Given the description of an element on the screen output the (x, y) to click on. 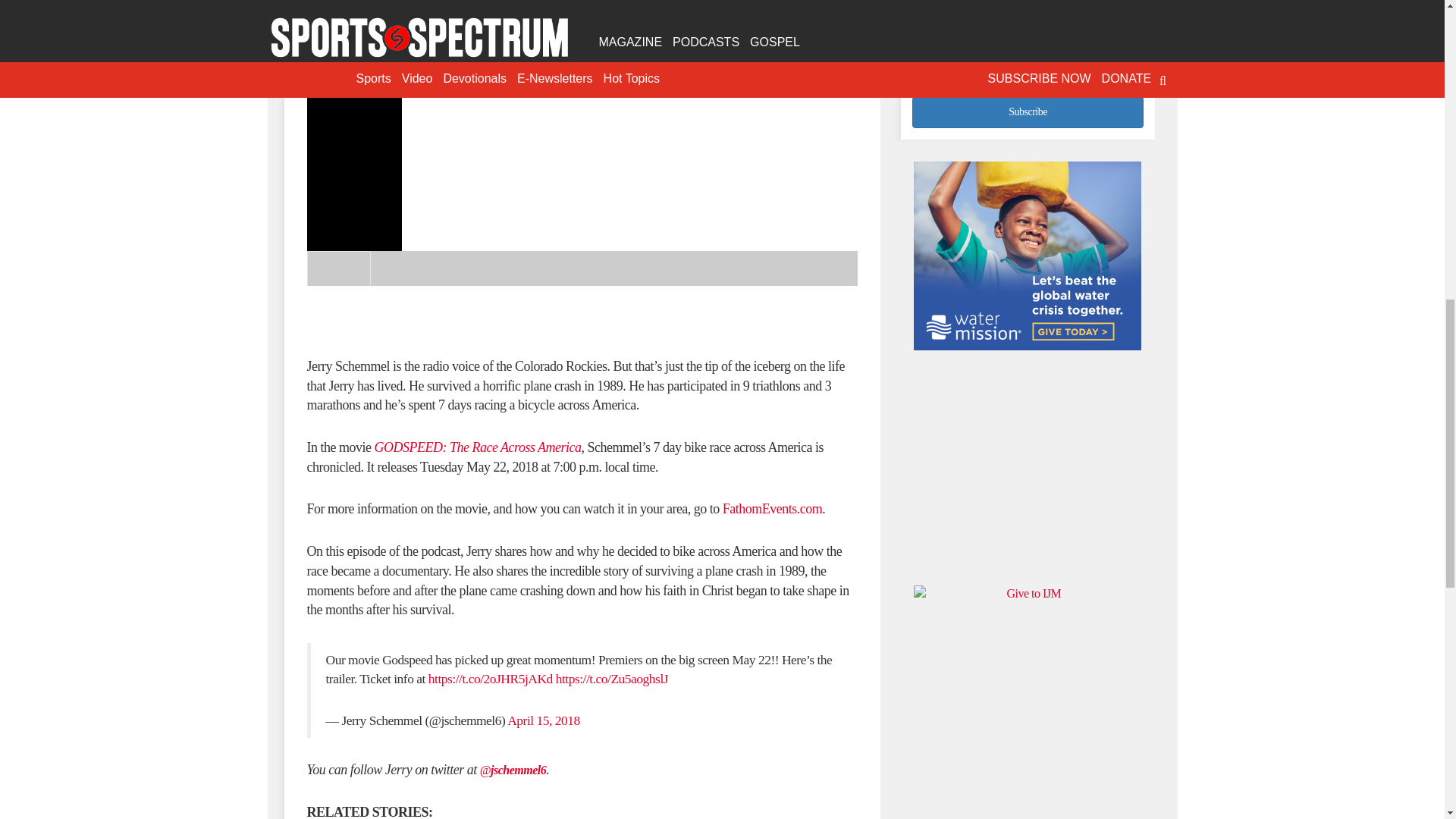
FathomEvents.com (772, 508)
GODSPEED: The Race Across America (477, 447)
April 15, 2018 (542, 720)
International Phone Number (1027, 58)
